Given the description of an element on the screen output the (x, y) to click on. 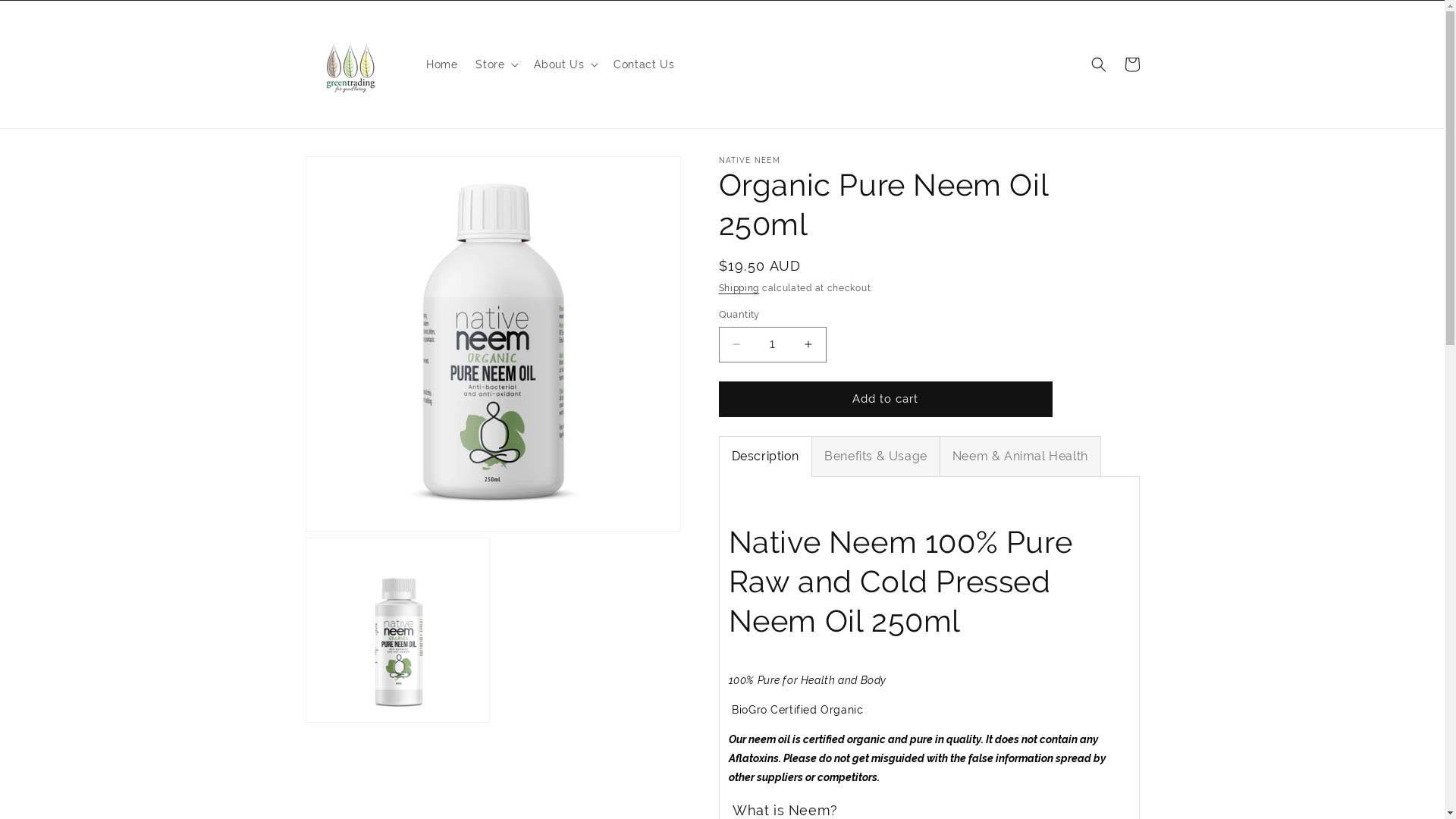
Contact Us Element type: text (643, 64)
Shipping Element type: text (738, 287)
Add to cart Element type: text (885, 399)
Increase quantity for Organic Pure Neem Oil 250ml Element type: text (808, 344)
Skip to product information Element type: text (350, 173)
Decrease quantity for Organic Pure Neem Oil 250ml Element type: text (735, 344)
Cart Element type: text (1131, 64)
Home Element type: text (441, 64)
